Given the description of an element on the screen output the (x, y) to click on. 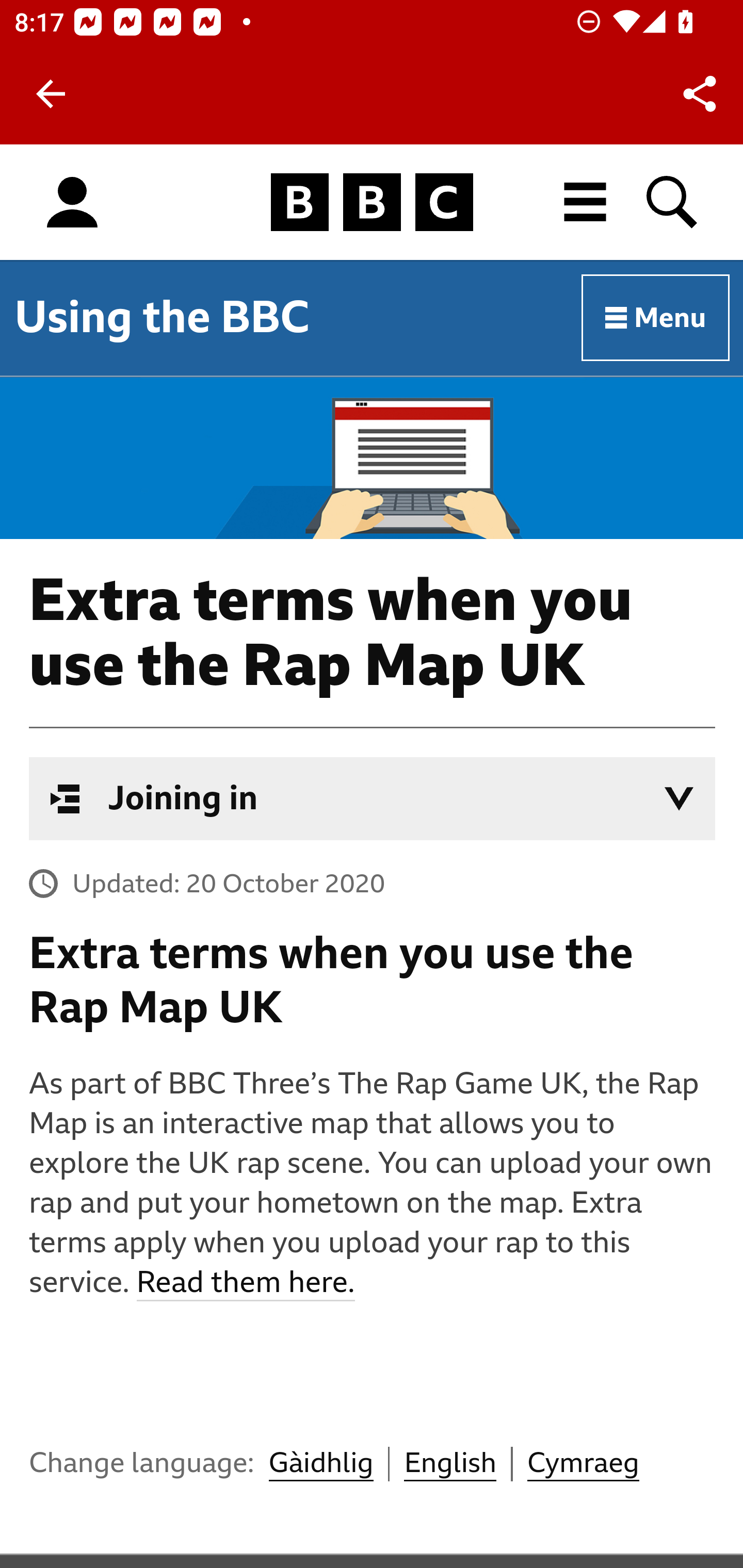
Back (50, 93)
Share (699, 93)
All BBC destinations menu (585, 202)
Search BBC (672, 202)
Sign in (71, 203)
Homepage (371, 203)
Menu (656, 318)
Using the BBC (162, 317)
Open in-page navigation (679, 798)
Read them here. (245, 1283)
Gàidhlig (320, 1463)
English (450, 1463)
Cymraeg (582, 1463)
